Given the description of an element on the screen output the (x, y) to click on. 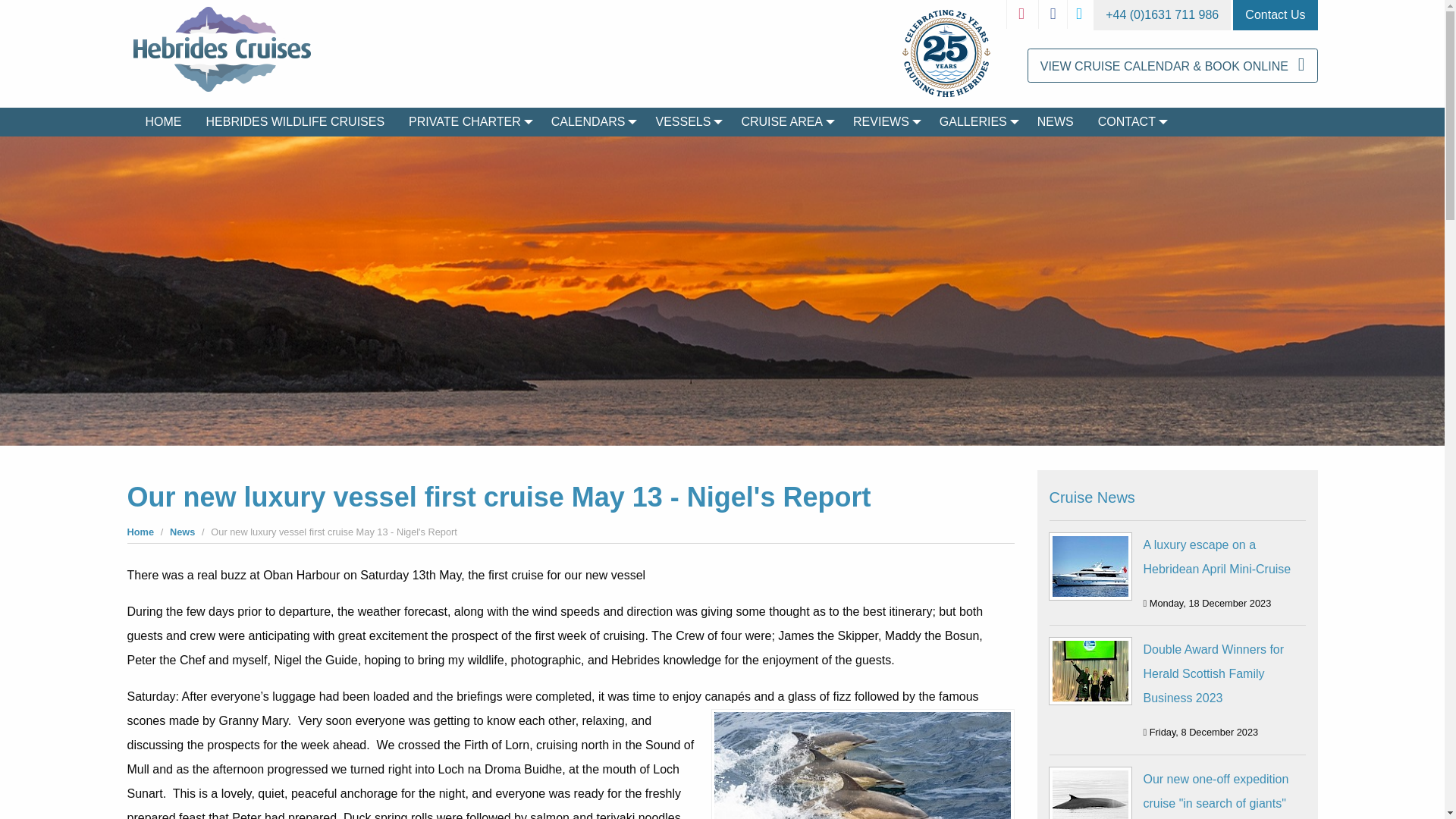
CALENDARS (590, 121)
VESSELS (686, 121)
Contact Us (1275, 15)
CRUISE AREA (785, 121)
HEBRIDES WILDLIFE CRUISES (295, 121)
PRIVATE CHARTER (467, 121)
HOME (163, 121)
